Given the description of an element on the screen output the (x, y) to click on. 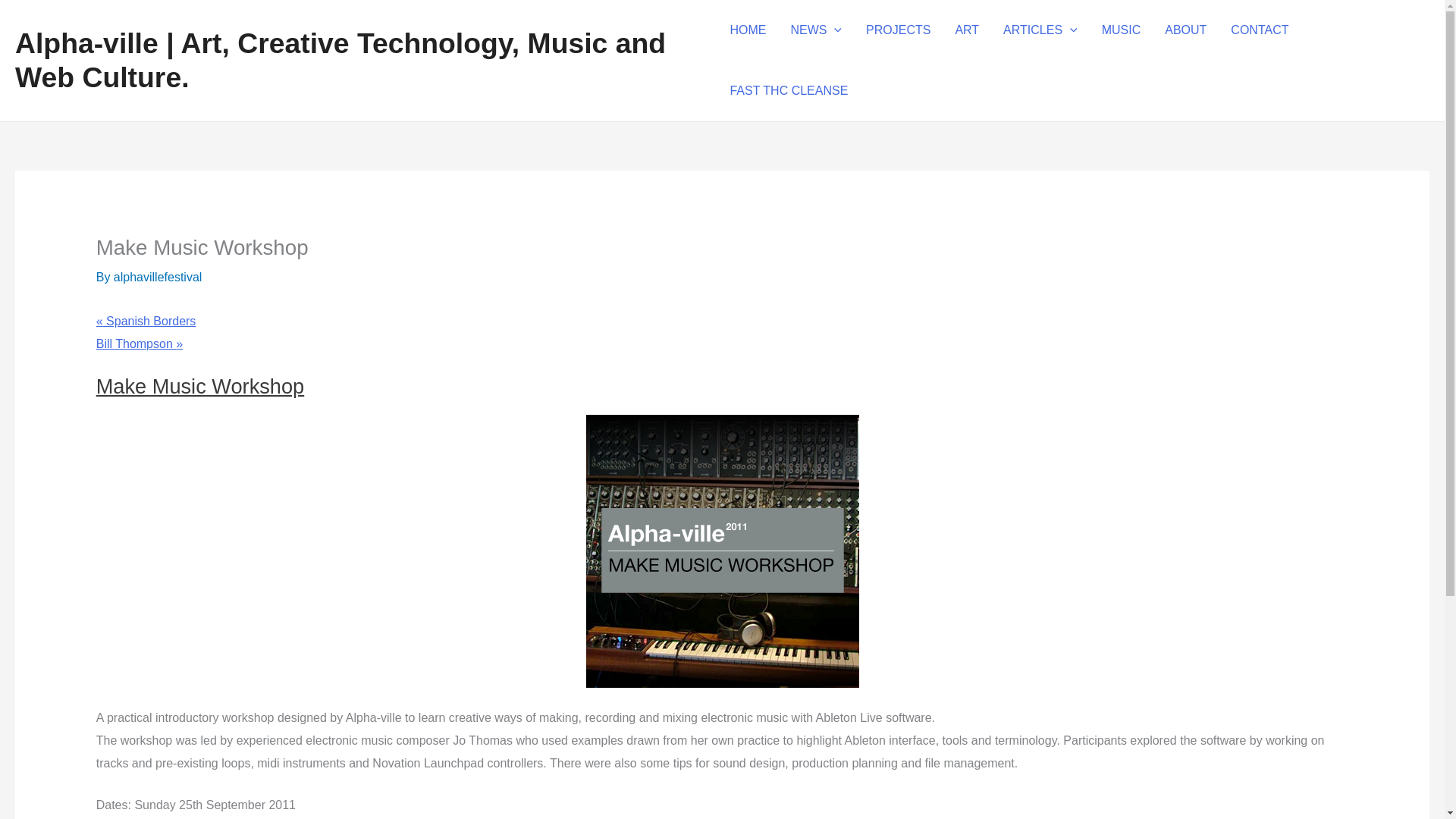
FAST THC CLEANSE (788, 90)
ARTICLES (1040, 30)
NEWS (815, 30)
alphavillefestival (157, 277)
ABOUT (1185, 30)
HOME (747, 30)
PROJECTS (897, 30)
Make Music Workshop (200, 386)
View all posts by alphavillefestival (157, 277)
CONTACT (1259, 30)
